Given the description of an element on the screen output the (x, y) to click on. 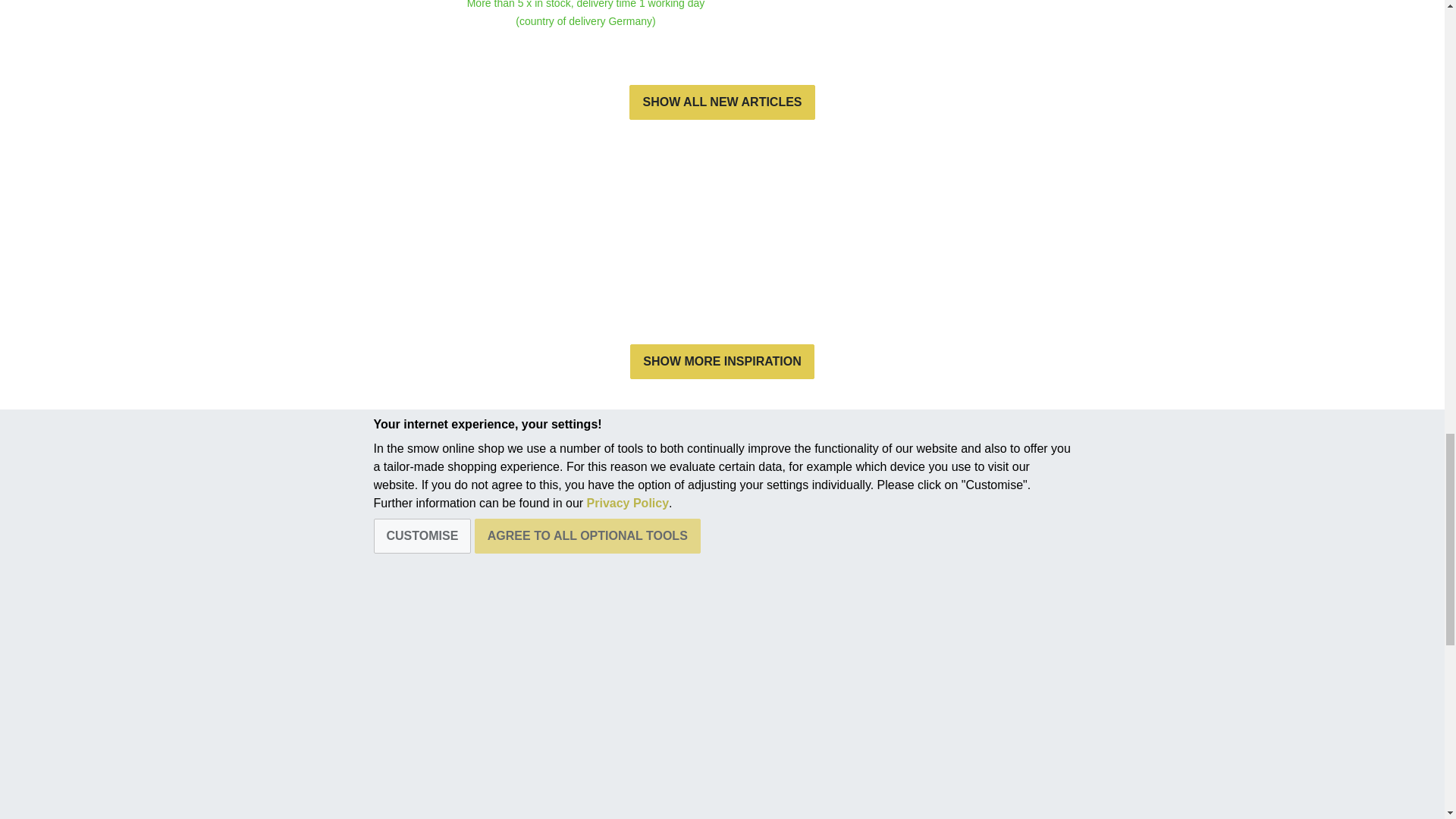
Payment (603, 777)
Payment (603, 688)
Payment (603, 726)
Payment (603, 752)
